Given the description of an element on the screen output the (x, y) to click on. 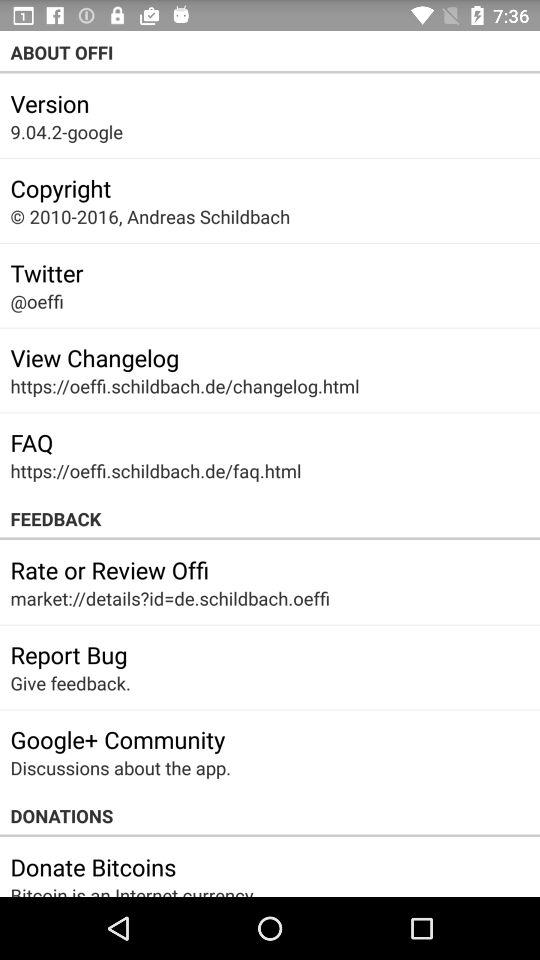
swipe to the about offi (270, 52)
